Given the description of an element on the screen output the (x, y) to click on. 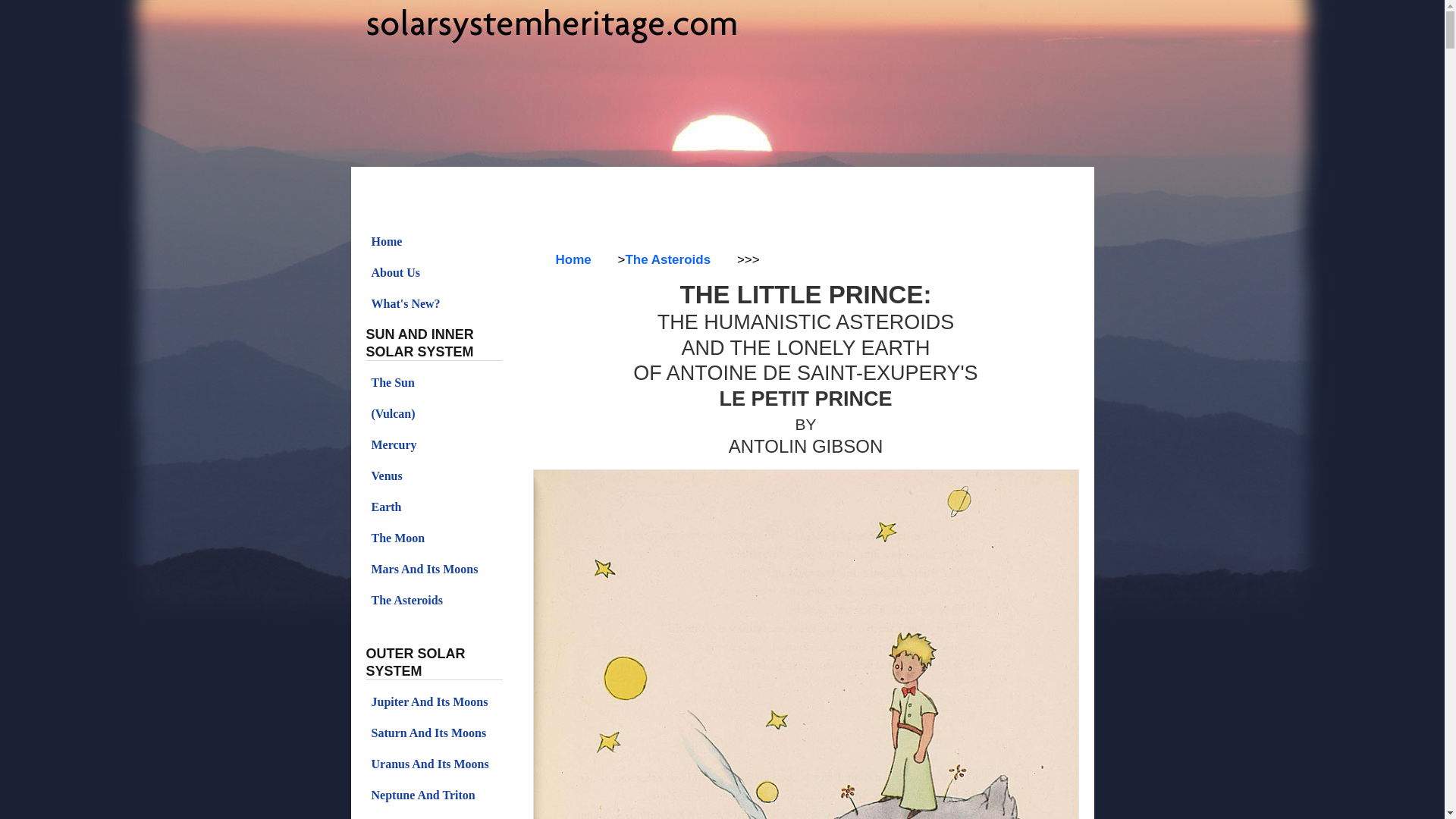
Earth (433, 507)
Venus (433, 475)
Saturn And Its Moons (433, 733)
What'S New? (433, 303)
Mars And Its Moons (433, 569)
Neptune And Triton (433, 795)
Jupiter And Its Moons (433, 701)
The Moon (433, 538)
The Sun (433, 382)
Home (433, 241)
